Given the description of an element on the screen output the (x, y) to click on. 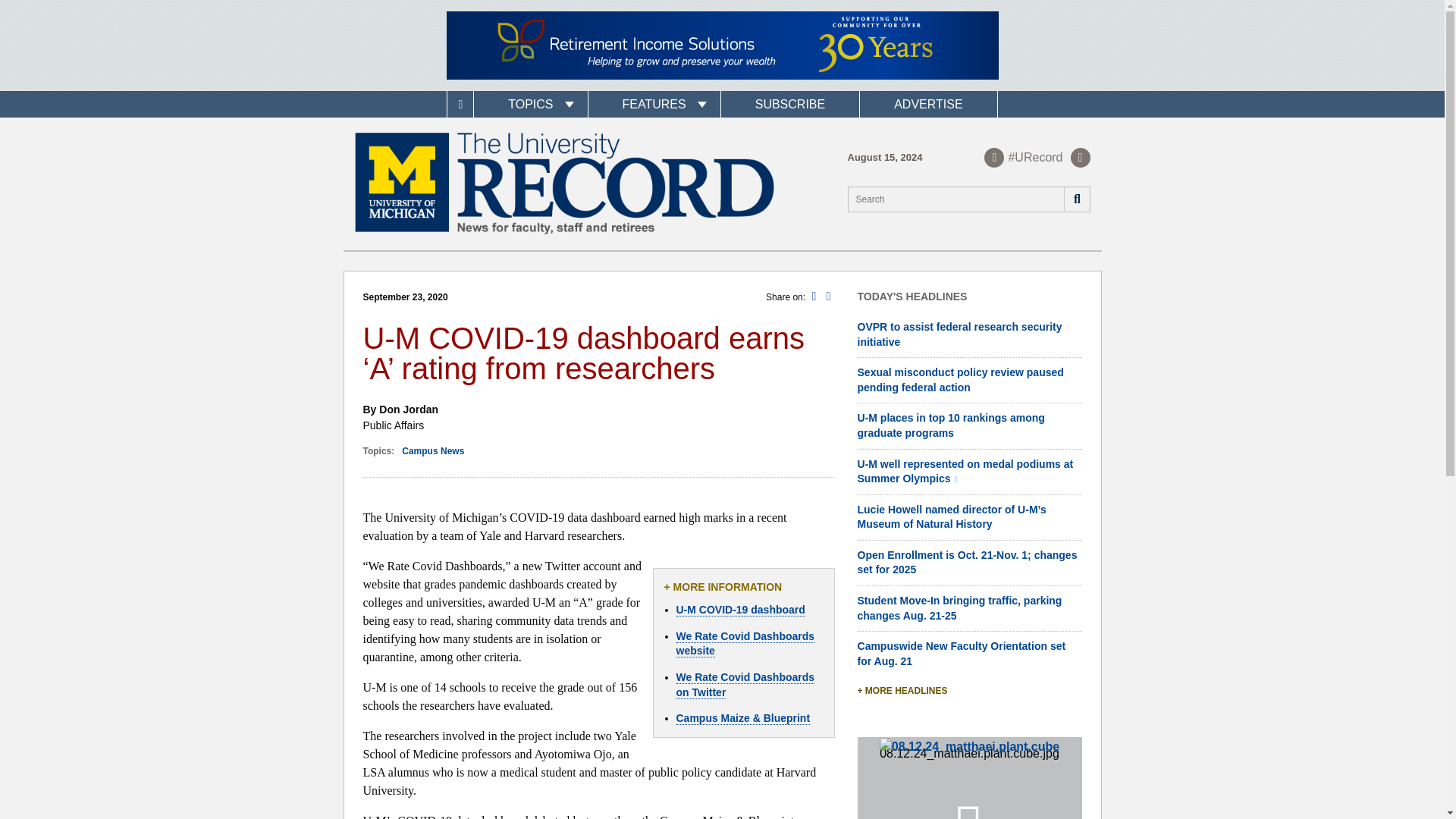
ADVERTISE (927, 103)
FEATURES (654, 103)
HOME (459, 103)
Campus News (432, 450)
The University Record (564, 183)
Search (1075, 198)
Search for: (968, 199)
SUBSCRIBE (789, 103)
TOPICS (530, 103)
RSS (1080, 156)
